Given the description of an element on the screen output the (x, y) to click on. 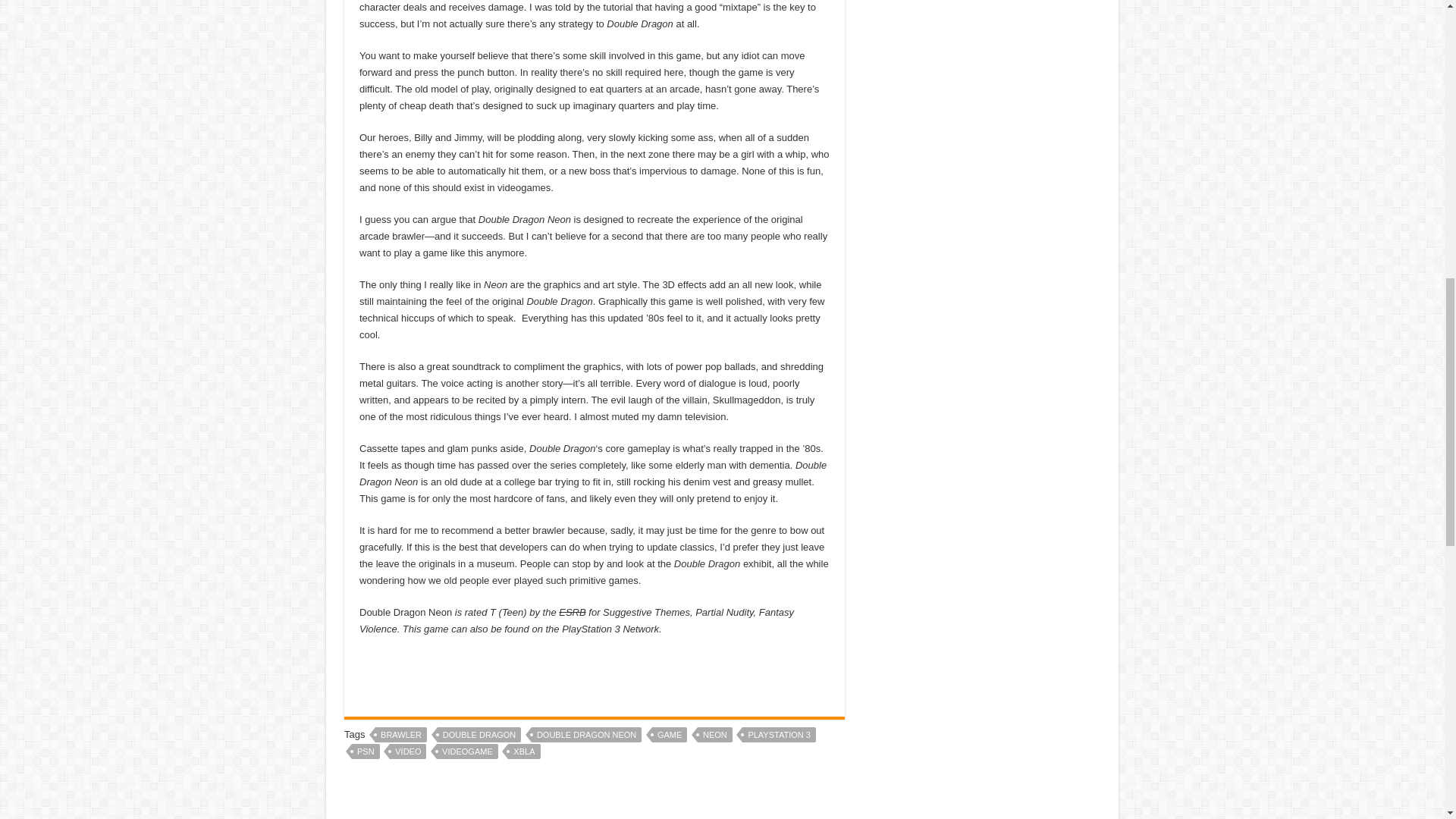
Scroll To Top (1421, 60)
